Given the description of an element on the screen output the (x, y) to click on. 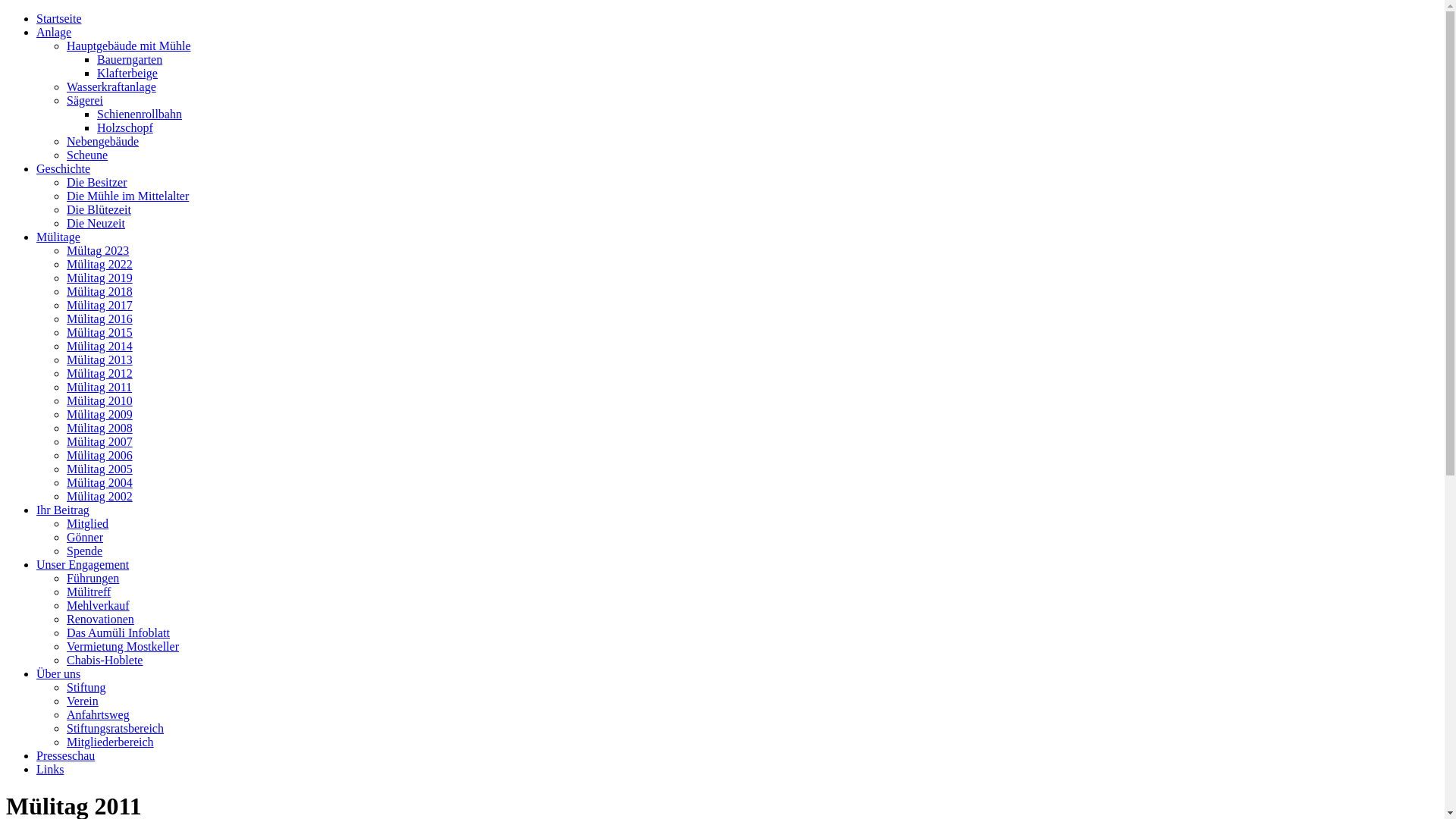
Startseite Element type: text (58, 18)
Anlage Element type: text (53, 31)
Wasserkraftanlage Element type: text (111, 86)
Ihr Beitrag Element type: text (62, 509)
Anfahrtsweg Element type: text (97, 714)
Bauerngarten Element type: text (129, 59)
Spende Element type: text (84, 550)
Mehlverkauf Element type: text (97, 605)
Verein Element type: text (82, 700)
Klafterbeige Element type: text (127, 72)
Presseschau Element type: text (65, 755)
Renovationen Element type: text (100, 618)
Links Element type: text (49, 768)
Die Neuzeit Element type: text (95, 222)
Vermietung Mostkeller Element type: text (122, 646)
Holzschopf Element type: text (125, 127)
Unser Engagement Element type: text (82, 564)
Stiftungsratsbereich Element type: text (114, 727)
Scheune Element type: text (86, 154)
Mitgliederbereich Element type: text (109, 741)
Schienenrollbahn Element type: text (139, 113)
Chabis-Hoblete Element type: text (104, 659)
Mitglied Element type: text (87, 523)
Die Besitzer Element type: text (96, 181)
Stiftung Element type: text (86, 686)
Geschichte Element type: text (63, 168)
